Given the description of an element on the screen output the (x, y) to click on. 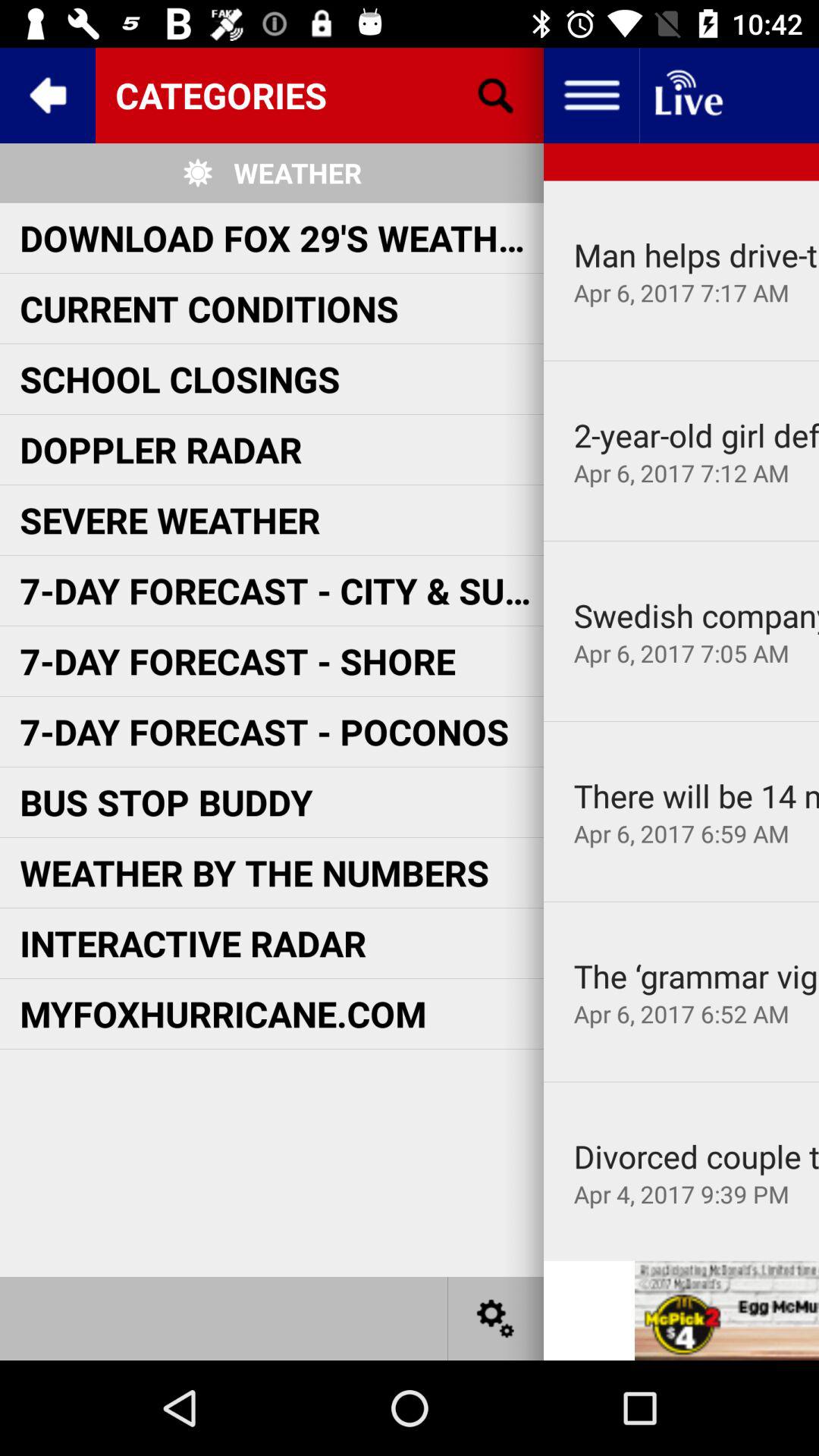
turn on the icon below download fox 29 item (208, 308)
